Given the description of an element on the screen output the (x, y) to click on. 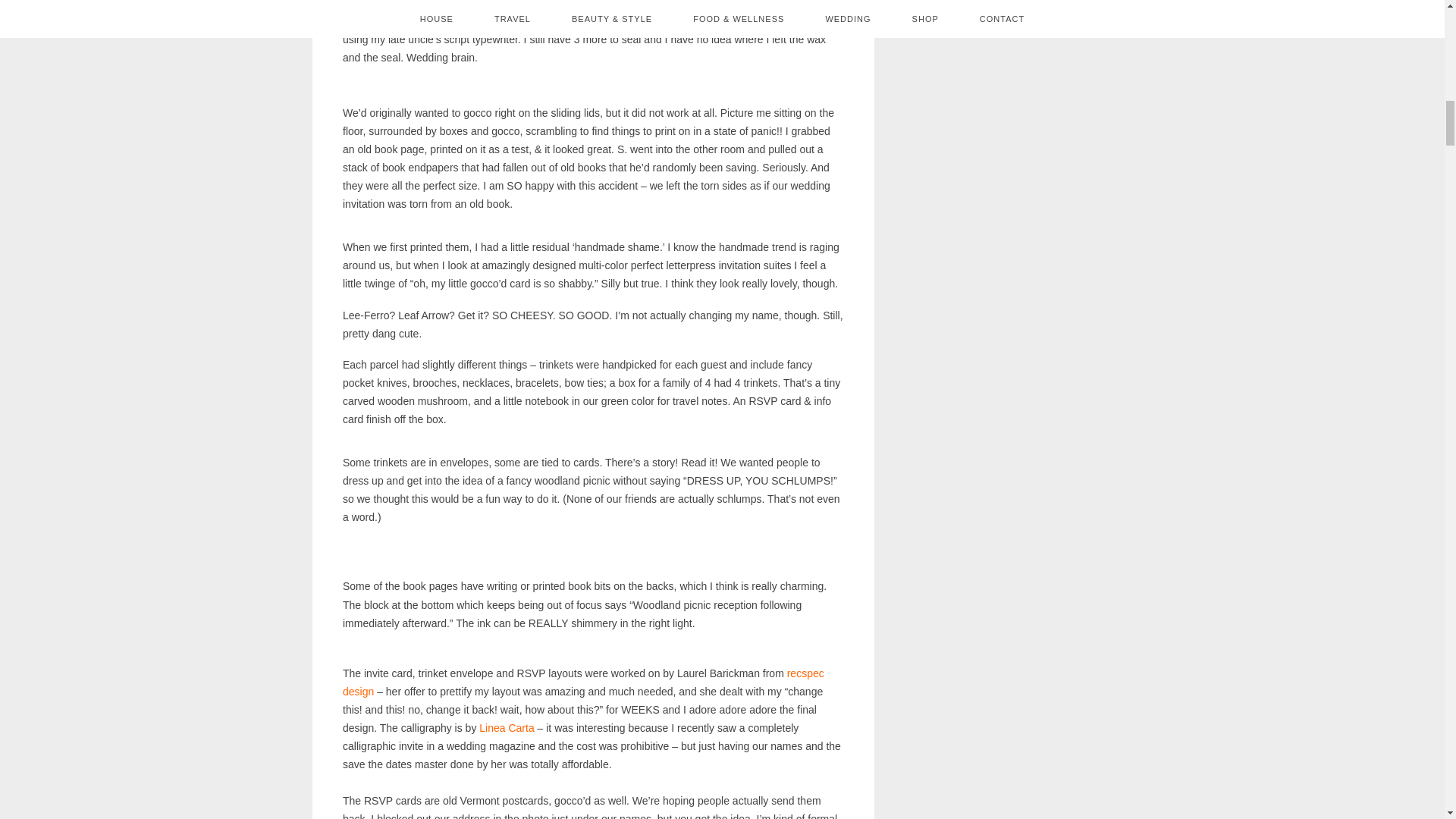
recspec design (583, 682)
Linea Carta (506, 727)
